Given the description of an element on the screen output the (x, y) to click on. 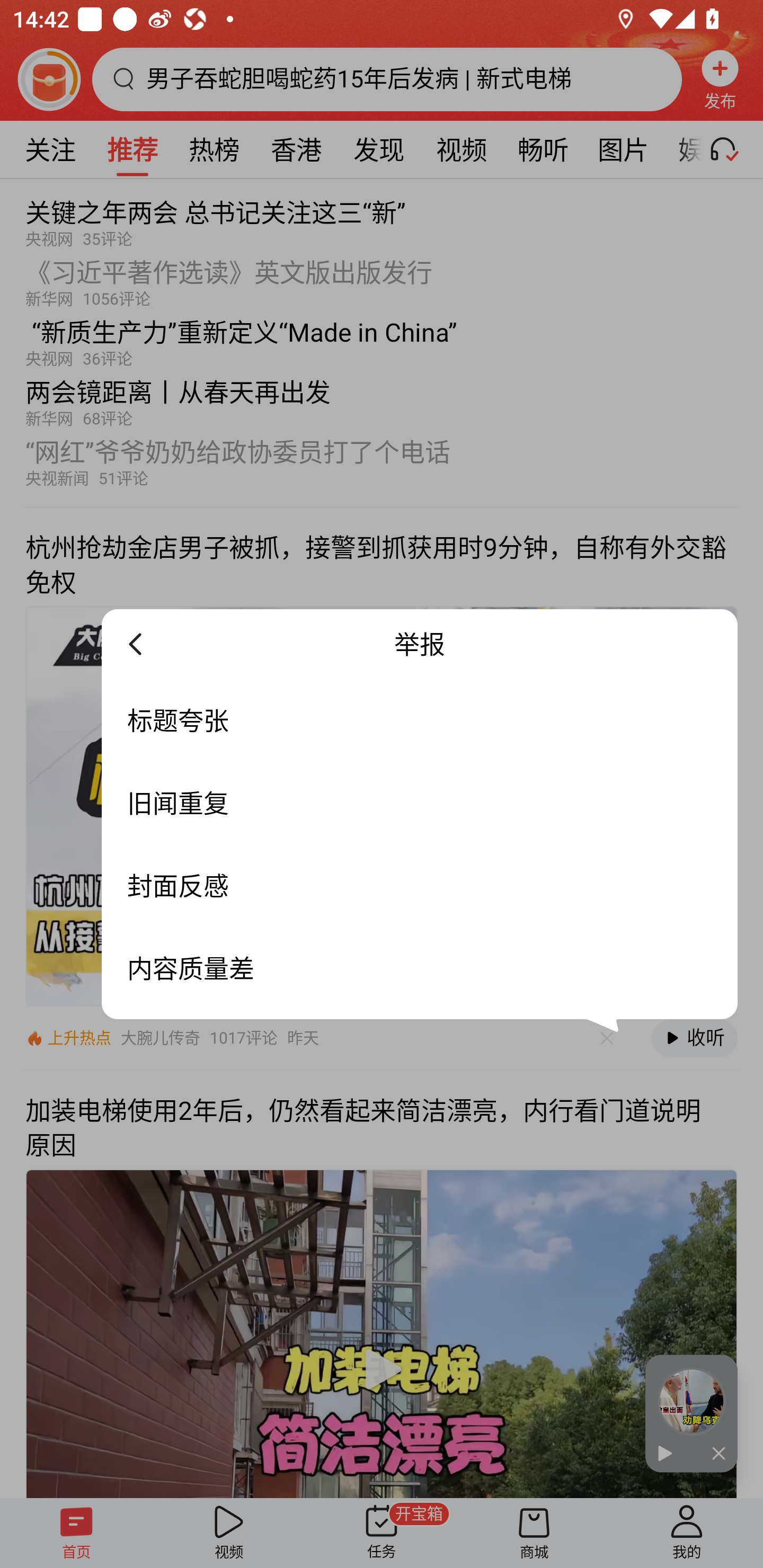
标题夸张 (419, 720)
旧闻重复 (419, 803)
封面反感 (419, 885)
内容质量差 (419, 967)
